Given the description of an element on the screen output the (x, y) to click on. 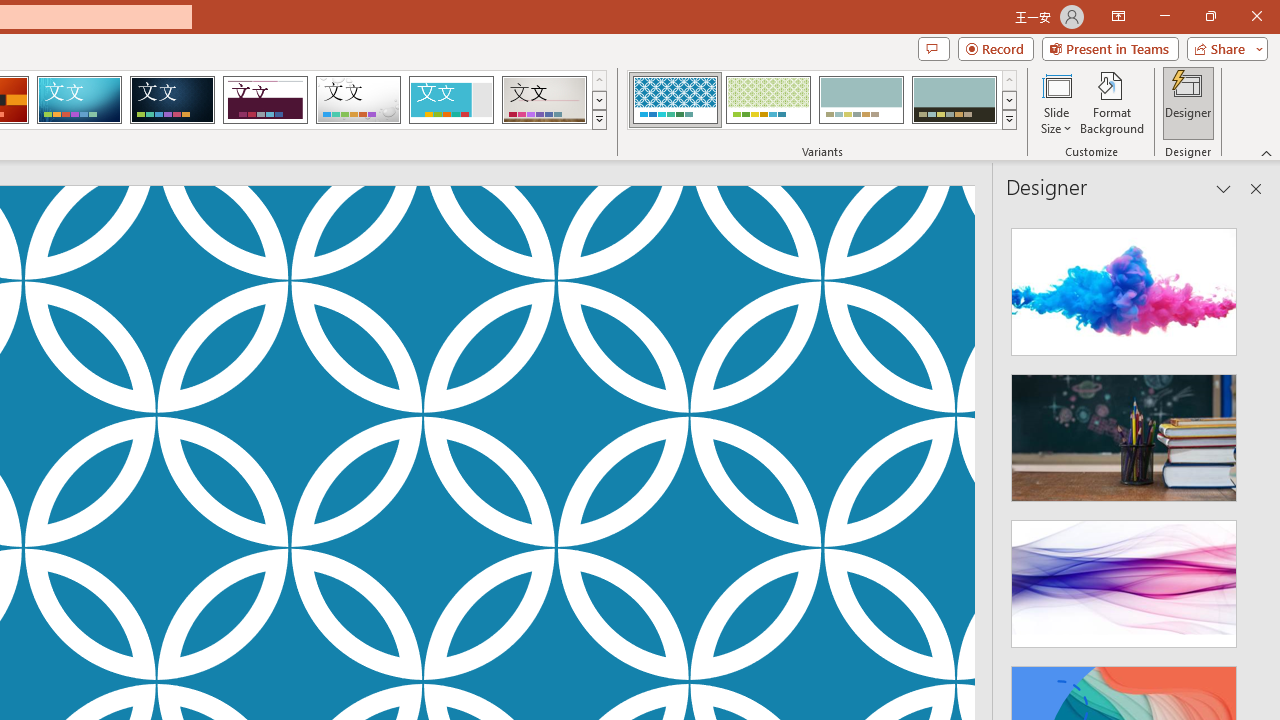
Designer (1188, 102)
Close pane (1256, 188)
Class: NetUIImage (1009, 119)
Circuit Loading Preview... (79, 100)
Recommended Design: Design Idea (1124, 286)
Task Pane Options (1224, 188)
Gallery Loading Preview... (544, 100)
Frame Loading Preview... (450, 100)
Format Background (1111, 102)
Dividend Loading Preview... (265, 100)
Design Idea (1124, 577)
